Given the description of an element on the screen output the (x, y) to click on. 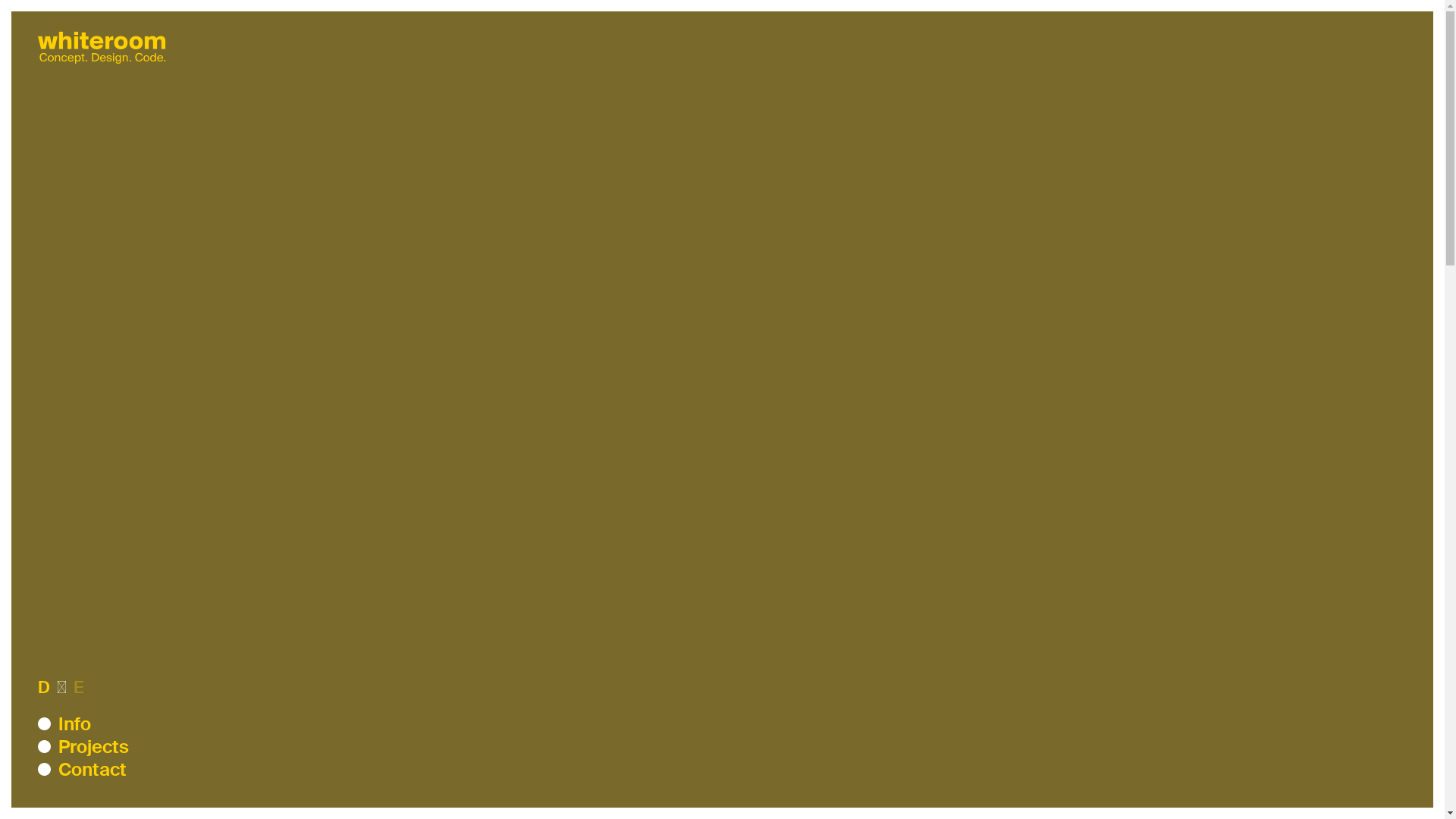
Contact Element type: text (92, 769)
Daniel Schoeneck, Element type: text (707, 209)
whiteroom: link to the landing page Element type: hover (101, 67)
CYON GmbH, Basel Element type: text (703, 258)
whiteroom mediendesign gmbh Element type: text (745, 60)
Daniel Schoeneck, Element type: text (707, 160)
Info Element type: text (74, 723)
Projects Element type: text (93, 746)
D Element type: text (43, 686)
